Given the description of an element on the screen output the (x, y) to click on. 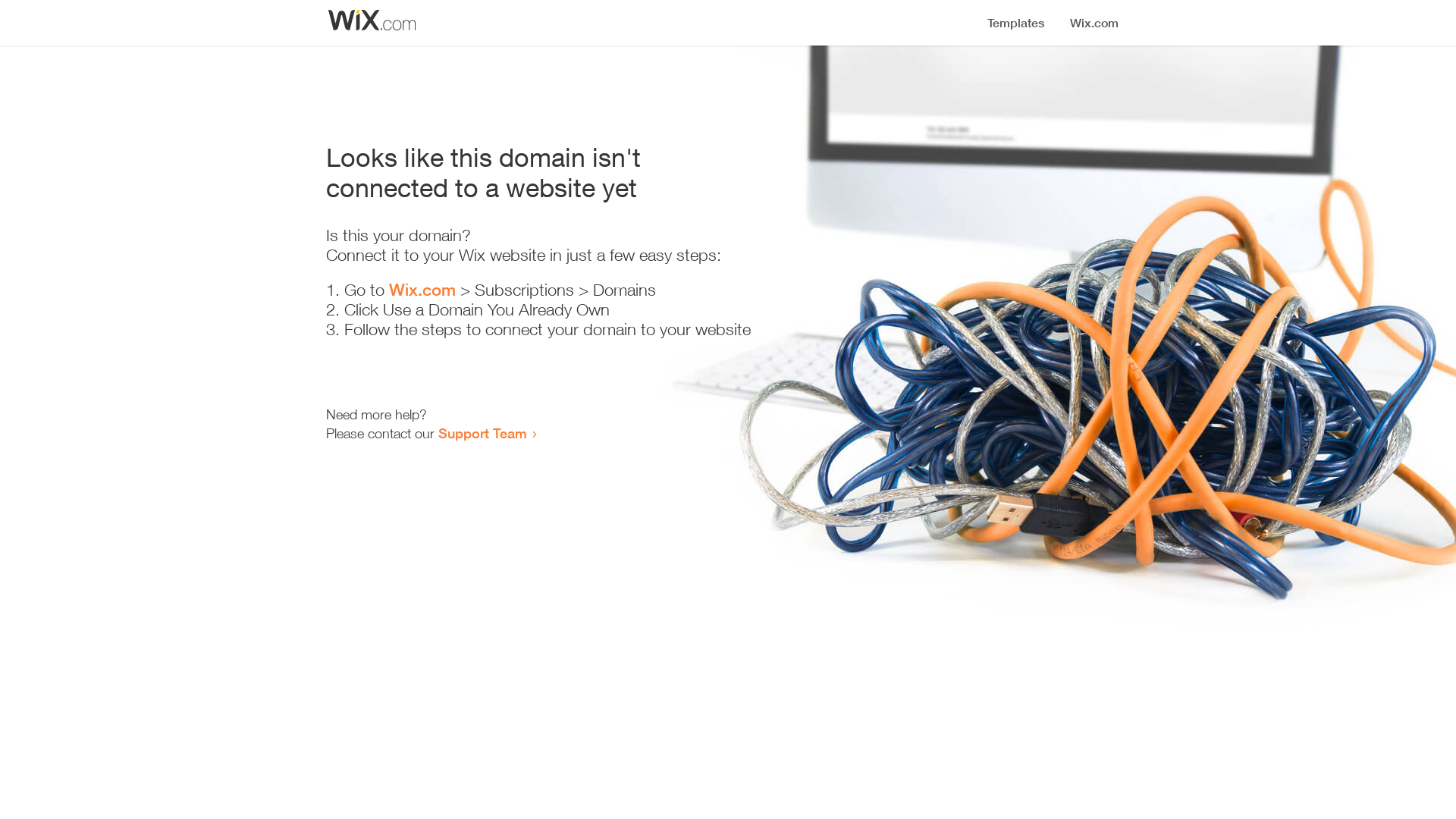
Support Team Element type: text (482, 432)
Wix.com Element type: text (422, 289)
